Given the description of an element on the screen output the (x, y) to click on. 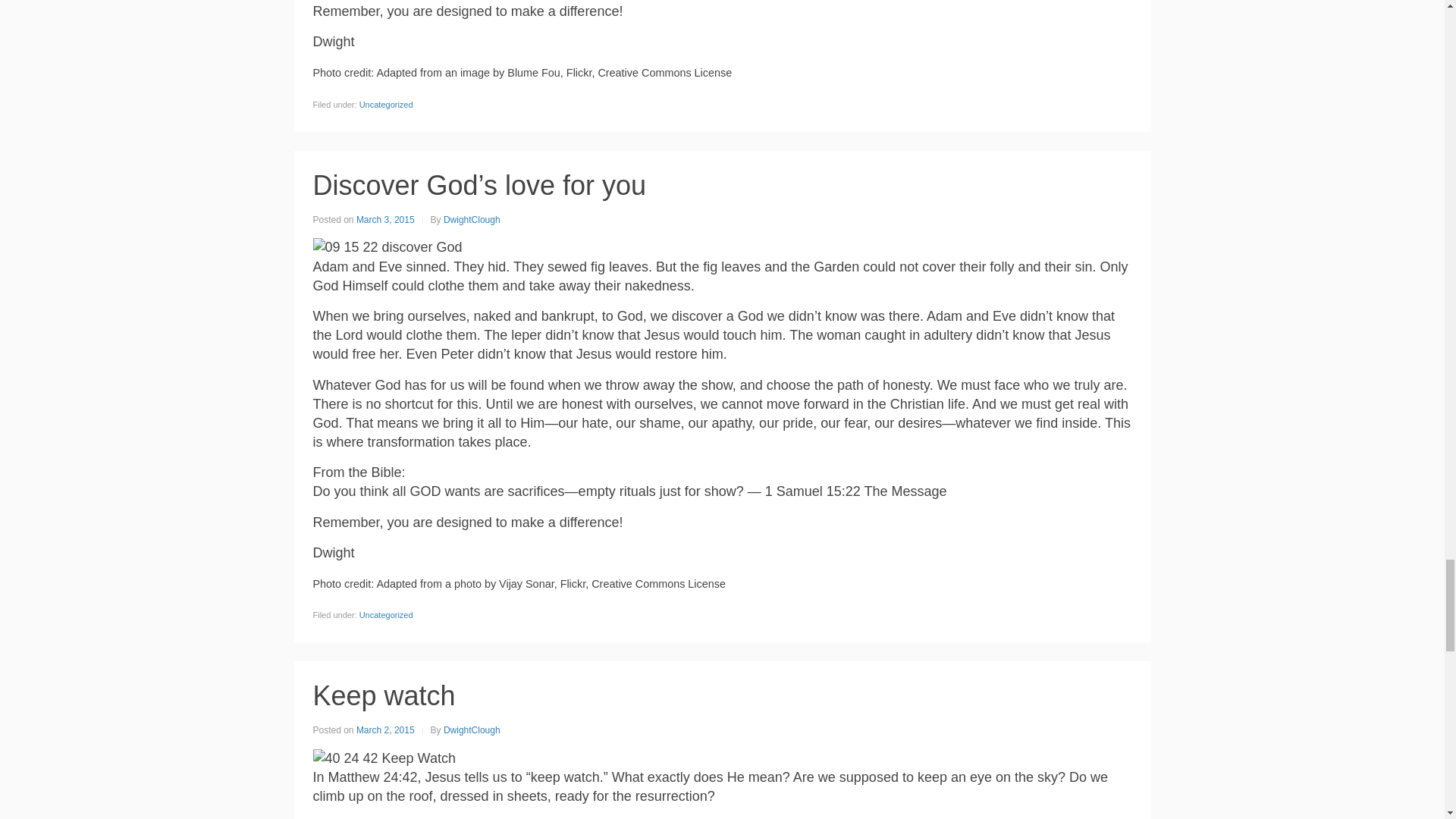
Uncategorized (386, 103)
DwightClough (472, 730)
Keep watch (383, 695)
Keep watch (383, 695)
DwightClough (472, 219)
Uncategorized (386, 614)
